Given the description of an element on the screen output the (x, y) to click on. 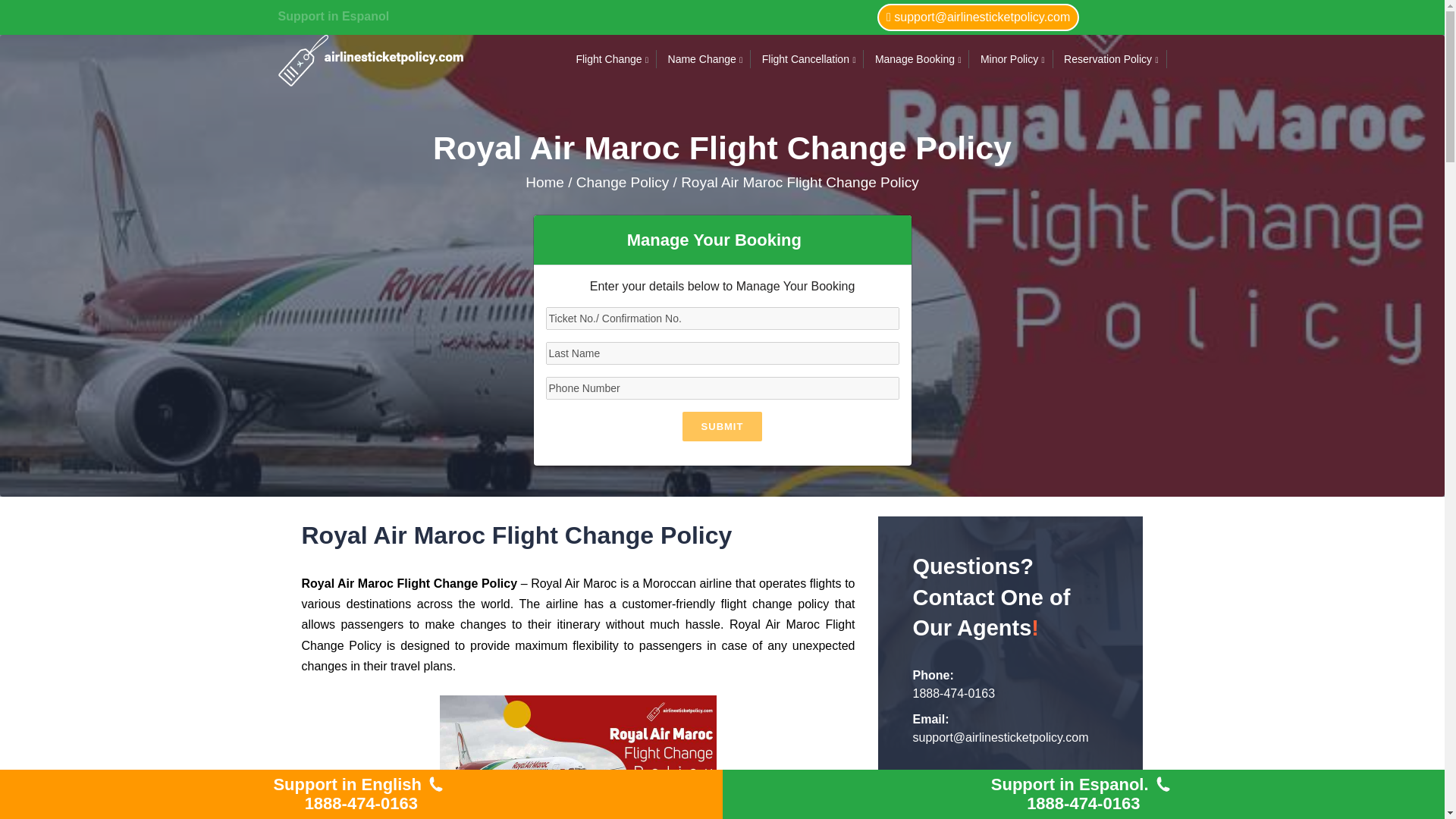
Name Change (702, 59)
Flight Change (608, 59)
